Given the description of an element on the screen output the (x, y) to click on. 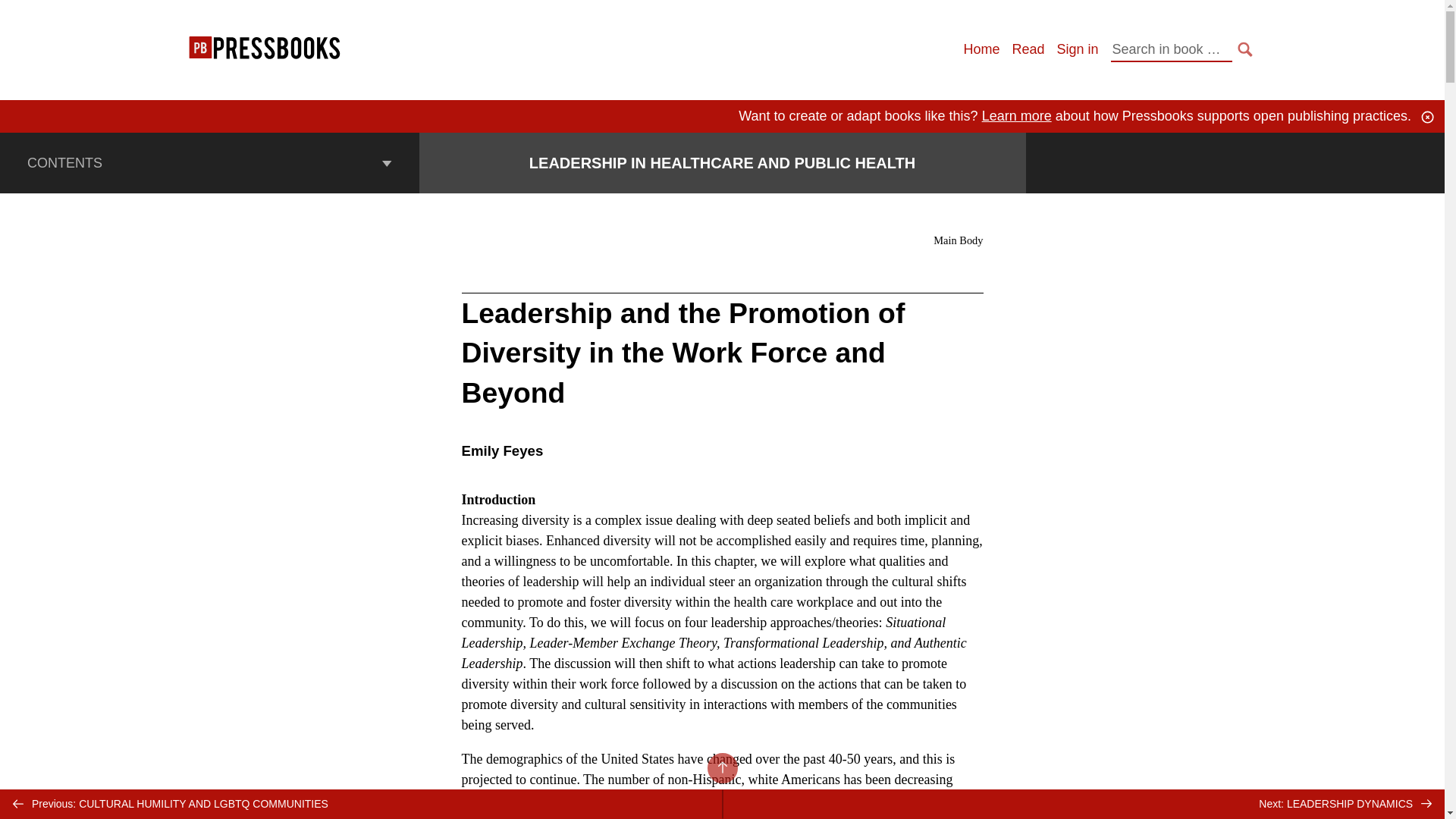
Home (980, 48)
LEADERSHIP IN HEALTHCARE AND PUBLIC HEALTH (722, 162)
BACK TO TOP (721, 767)
Learn more (1016, 115)
Previous: CULTURAL HUMILITY AND LGBTQ COMMUNITIES (361, 804)
Read (1027, 48)
Sign in (1077, 48)
CONTENTS (209, 162)
